Given the description of an element on the screen output the (x, y) to click on. 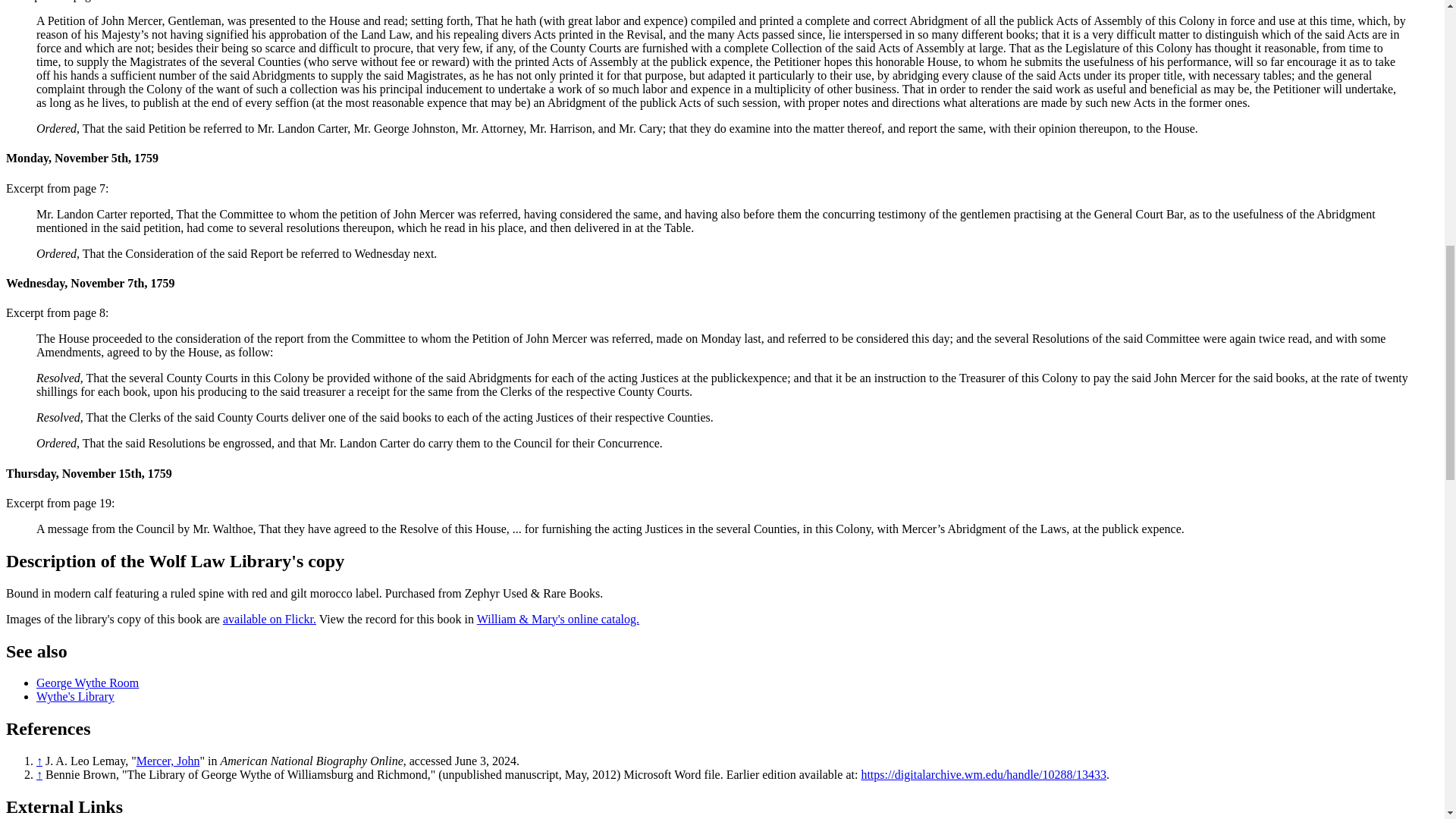
George Wythe Room (87, 682)
Wythe's Library (75, 696)
available on Flickr. (268, 618)
Mercer, John (168, 760)
George Wythe Room (87, 682)
Wythe's Library (75, 696)
